Given the description of an element on the screen output the (x, y) to click on. 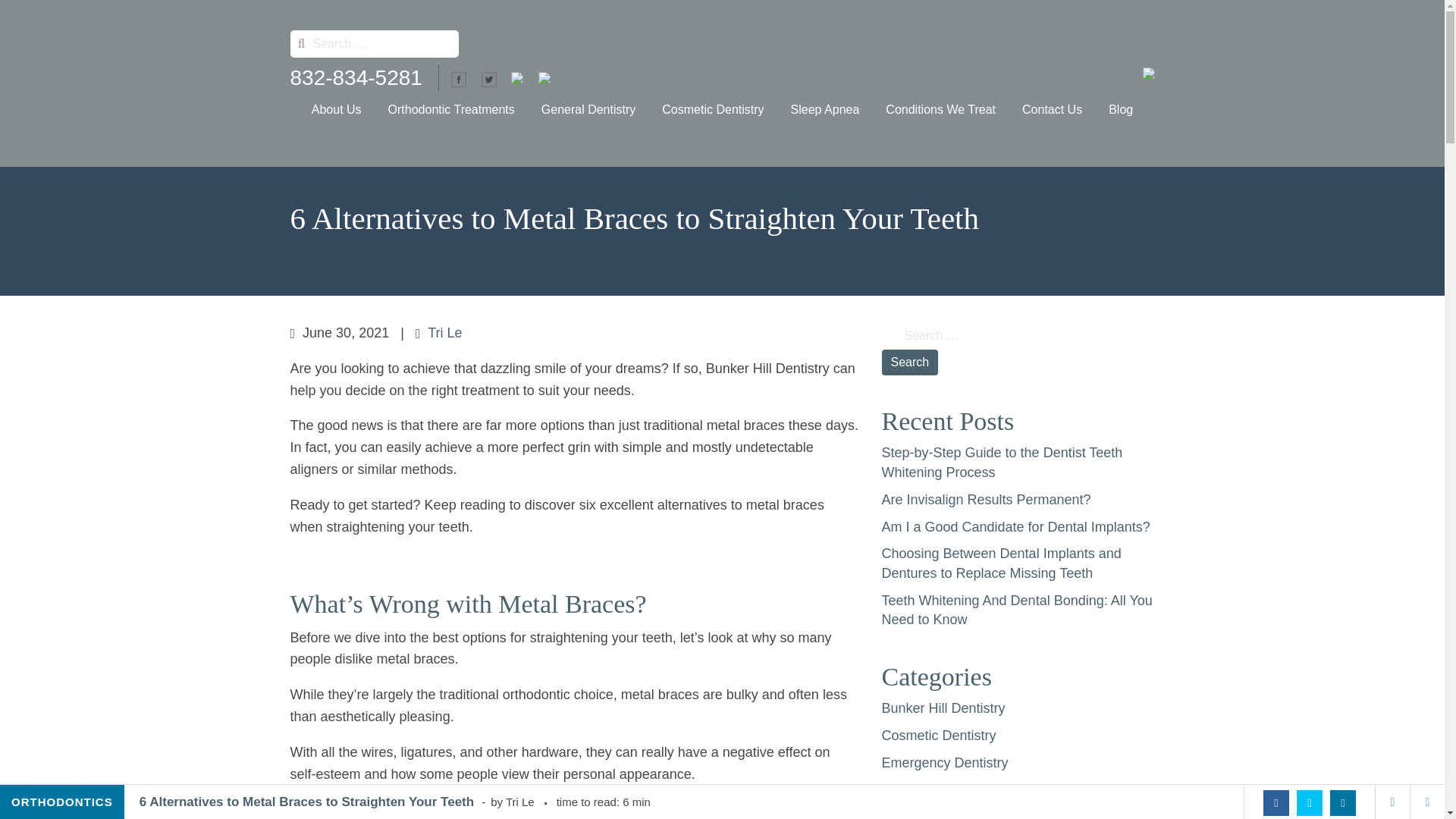
General Dentistry (588, 109)
Search (908, 362)
Orthodontic Treatments (451, 109)
Bunker Hill Dentistry (359, 109)
832-834-5281 (355, 77)
Search (908, 362)
About Us (335, 109)
About Us (335, 109)
